Given the description of an element on the screen output the (x, y) to click on. 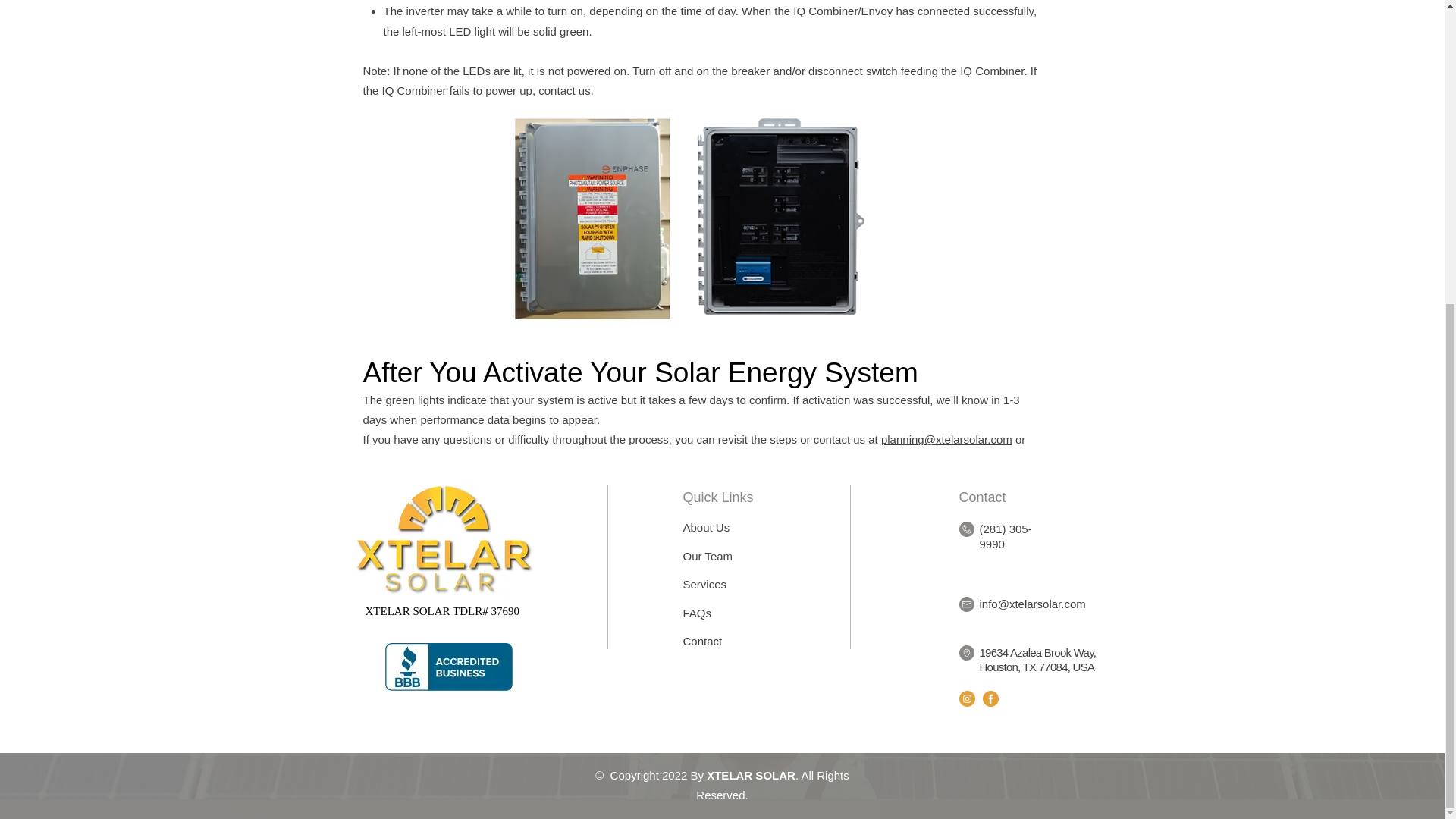
Contact (702, 640)
Services (704, 584)
Our Team (707, 555)
FAQs (696, 612)
About Us (705, 526)
